Given the description of an element on the screen output the (x, y) to click on. 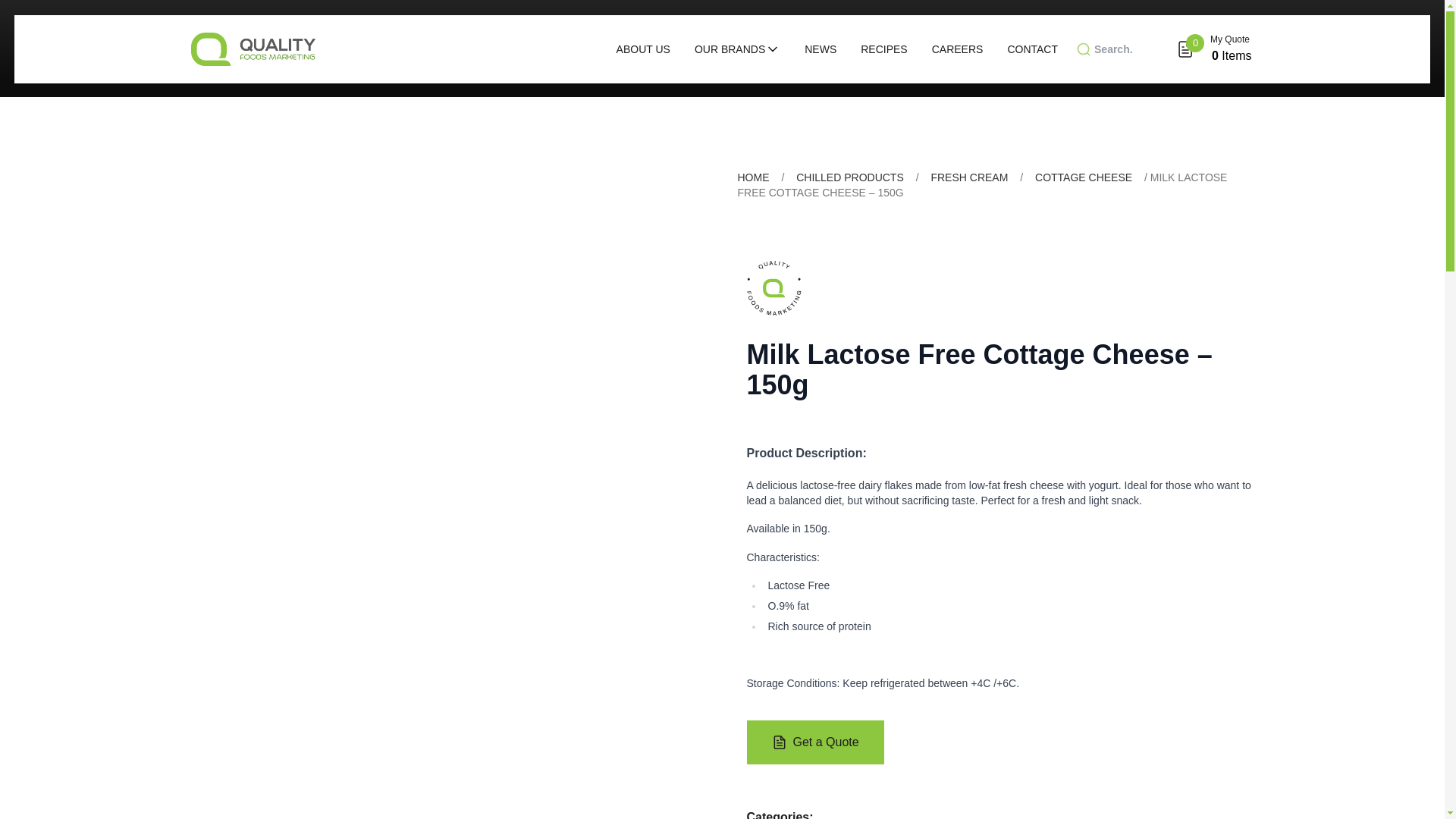
HOME (752, 177)
NEWS (820, 48)
ABOUT US (642, 48)
CAREERS (957, 48)
CHILLED PRODUCTS (850, 177)
RECIPES (883, 48)
FRESH CREAM (968, 177)
CONTACT (1032, 48)
0 Items (1230, 55)
OUR BRANDS (737, 48)
COTTAGE CHEESE (1083, 177)
Get a Quote (814, 742)
